Given the description of an element on the screen output the (x, y) to click on. 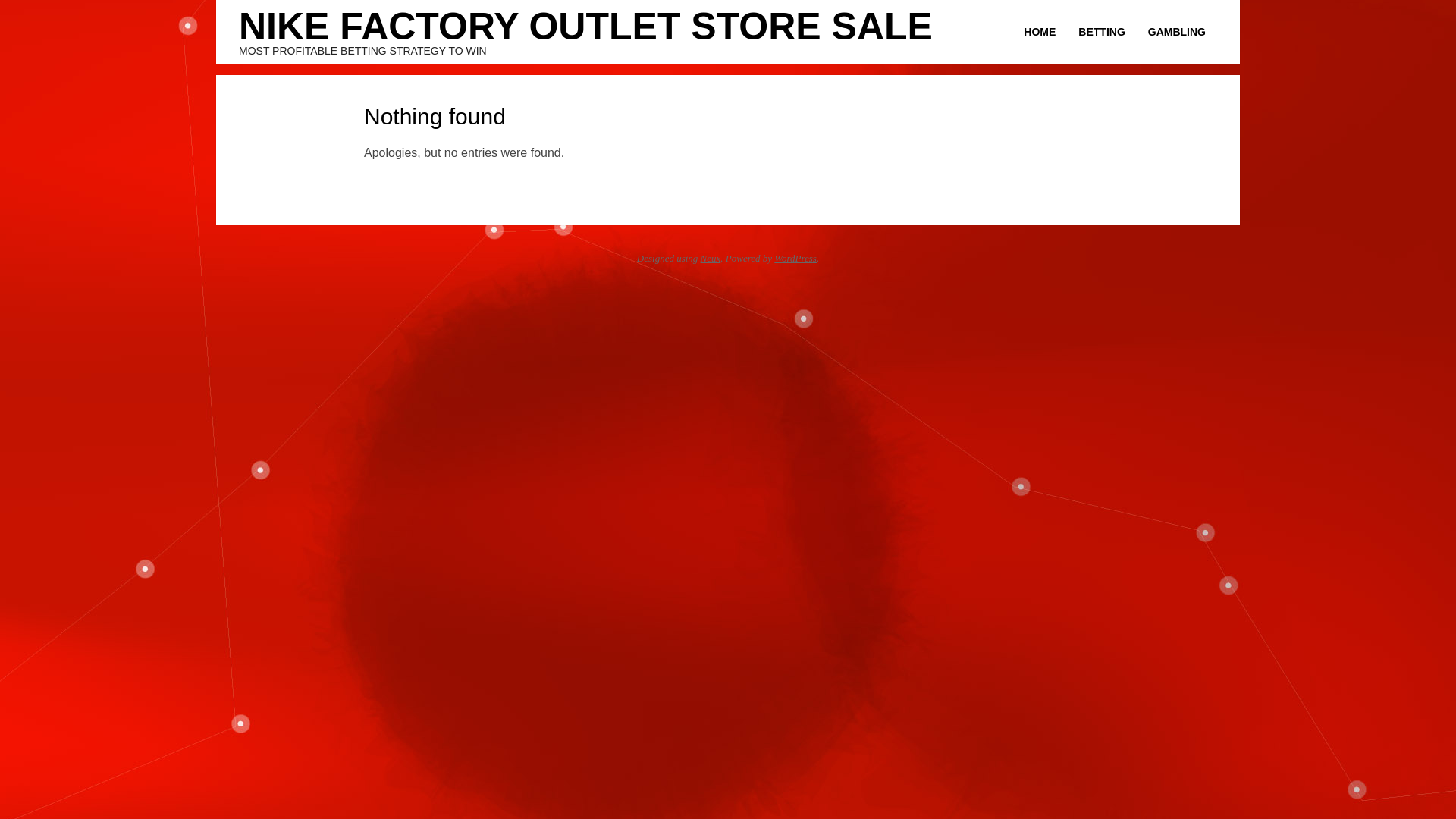
Neux (710, 257)
HOME (1039, 31)
NIKE FACTORY OUTLET STORE SALE (585, 25)
Neux WordPress Theme (710, 257)
BETTING (1101, 31)
WordPress (795, 257)
GAMBLING (1177, 31)
